Given the description of an element on the screen output the (x, y) to click on. 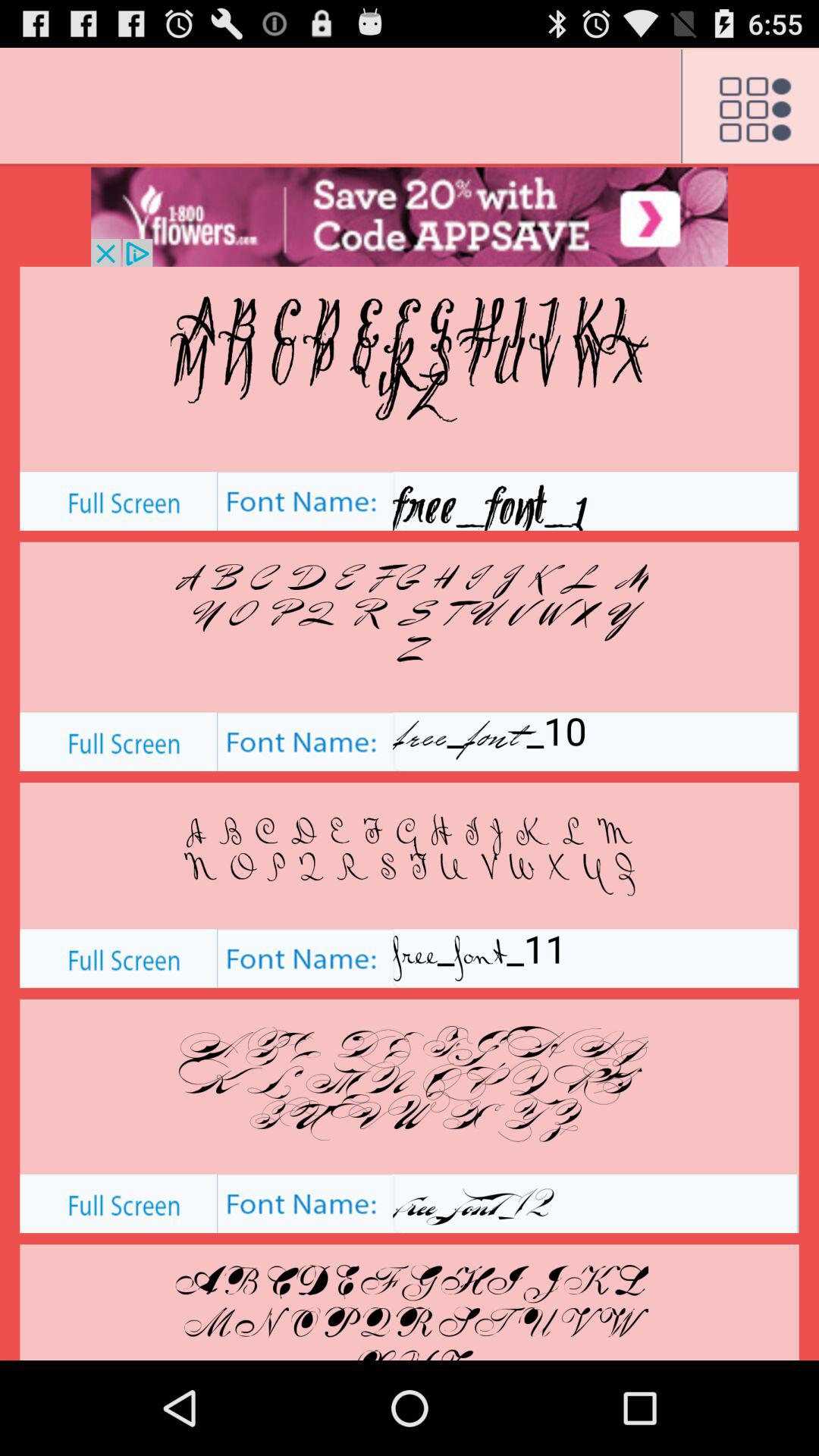
menu (749, 106)
